Given the description of an element on the screen output the (x, y) to click on. 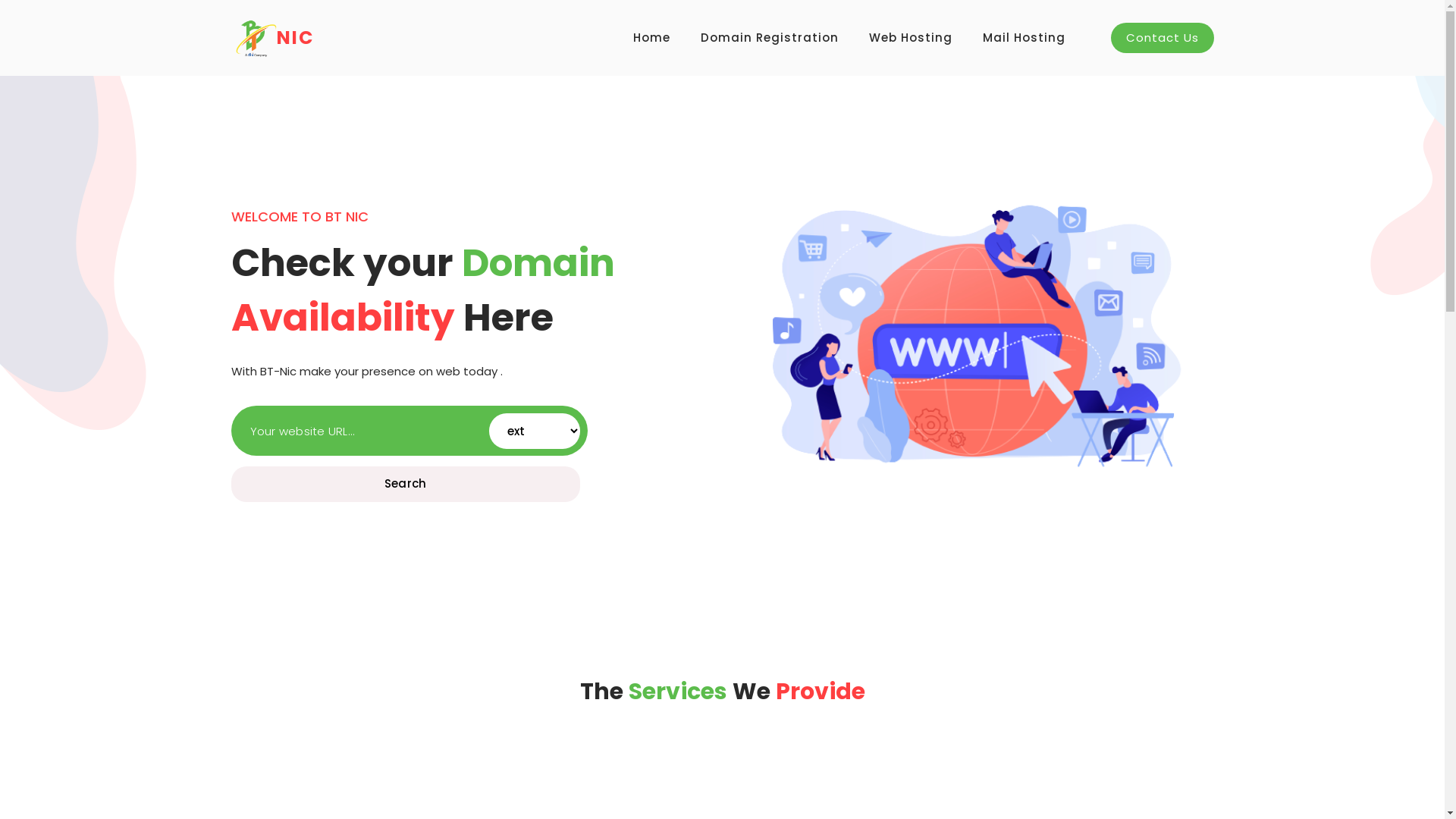
Contact Us Element type: text (1161, 37)
Domain Registration Element type: text (769, 37)
NIC Element type: text (271, 37)
Search Element type: text (404, 484)
Mail Hosting Element type: text (1023, 37)
Web Hosting Element type: text (910, 37)
Home Element type: text (650, 37)
